Given the description of an element on the screen output the (x, y) to click on. 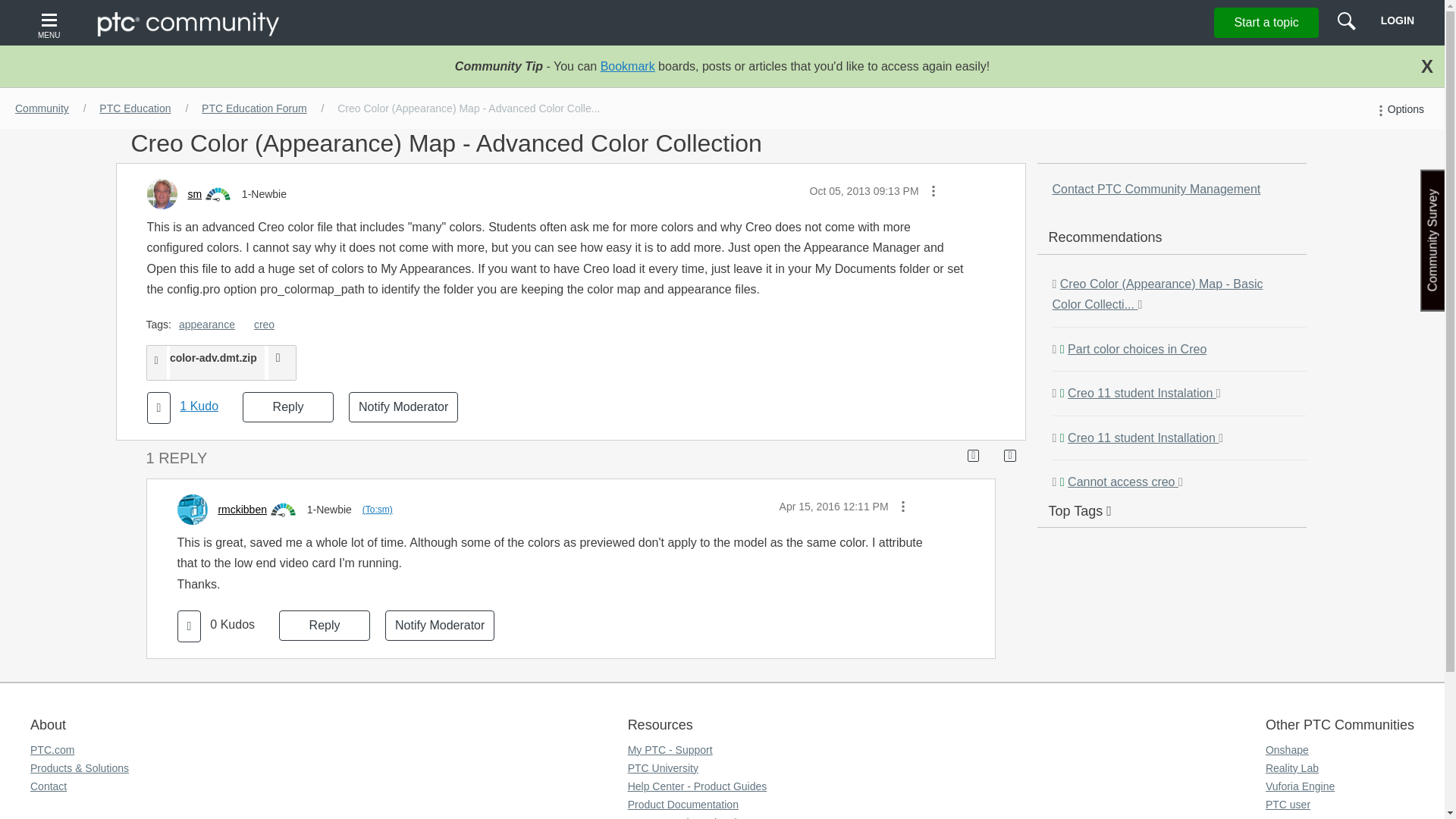
PTC Education (134, 108)
Community (42, 108)
Start a topic (1265, 22)
MENU (50, 22)
LOGIN (1396, 20)
Options (1398, 109)
PTC Education Forum (253, 108)
Bookmark (627, 65)
